Given the description of an element on the screen output the (x, y) to click on. 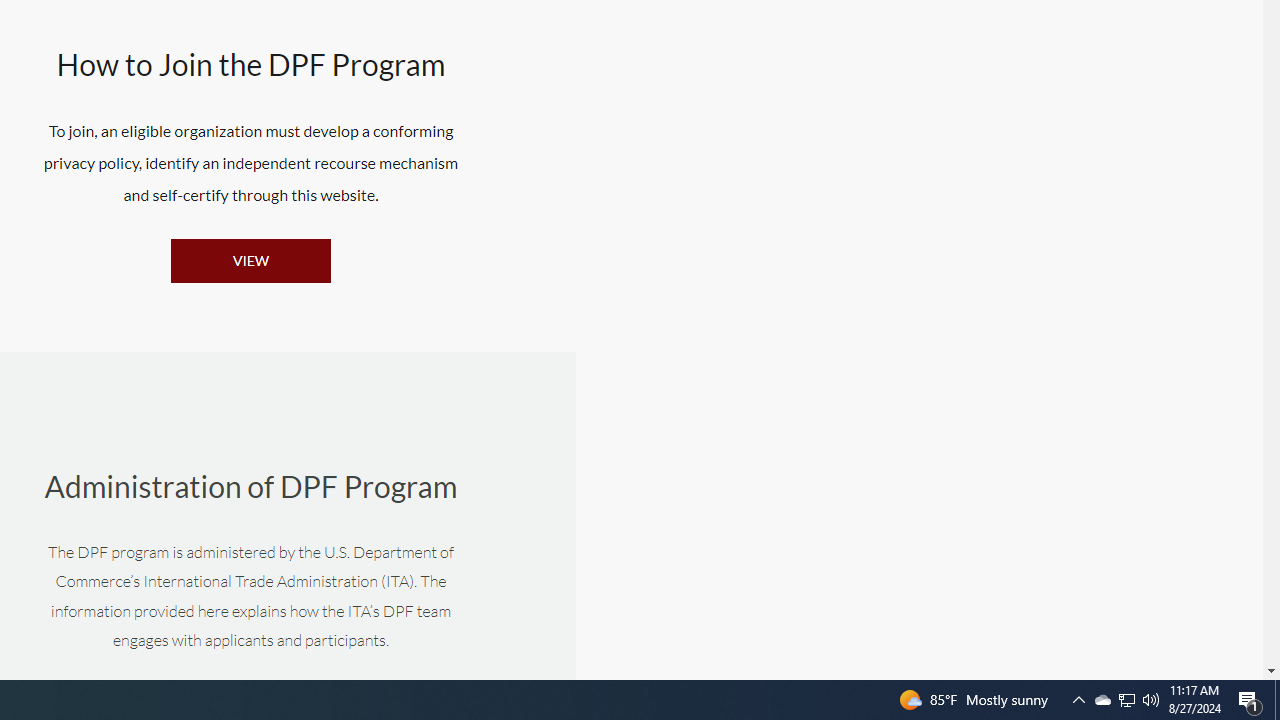
VIEW (251, 260)
